Given the description of an element on the screen output the (x, y) to click on. 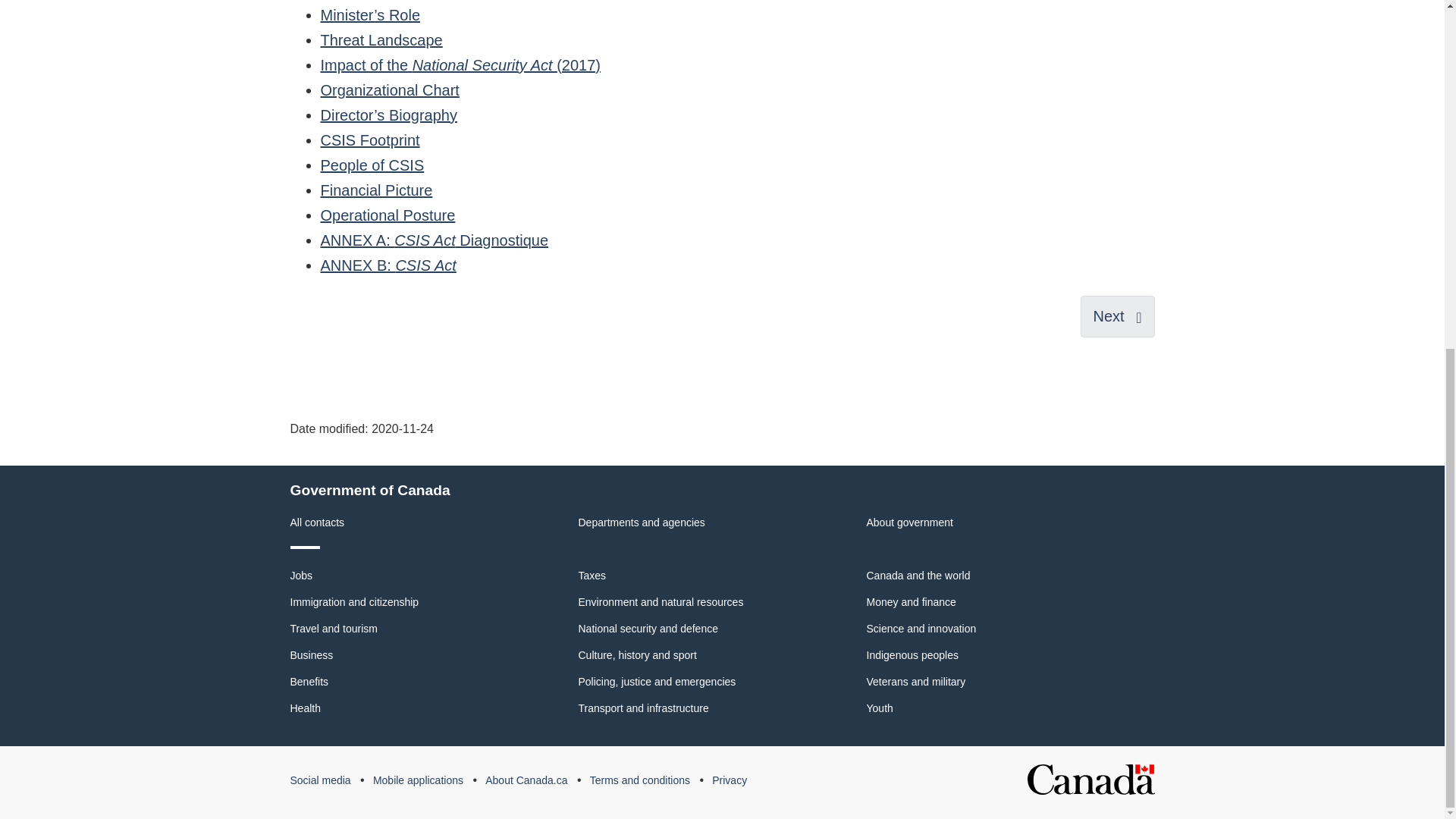
CSIS Footprint (369, 139)
Threat Landscape (381, 39)
Operational Posture (387, 215)
ANNEX A: CSIS Act Diagnostique (434, 239)
People of CSIS (371, 165)
Financial Picture (376, 190)
ANNEX B: CSIS Act (387, 265)
Organizational Chart (389, 89)
